Given the description of an element on the screen output the (x, y) to click on. 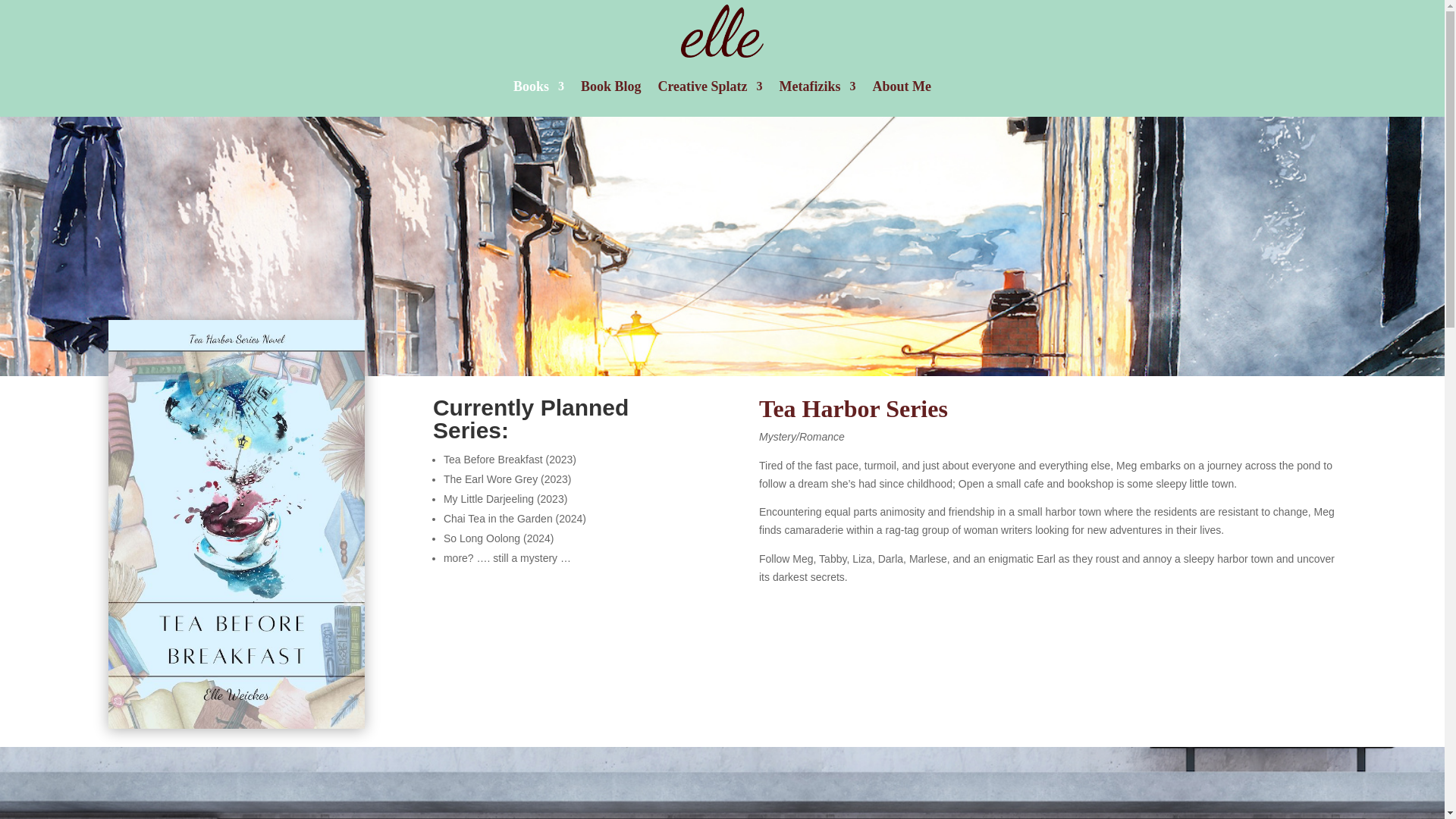
Book Blog (611, 86)
Metafiziks (817, 86)
Creative Splatz (709, 86)
About Me (901, 86)
